Given the description of an element on the screen output the (x, y) to click on. 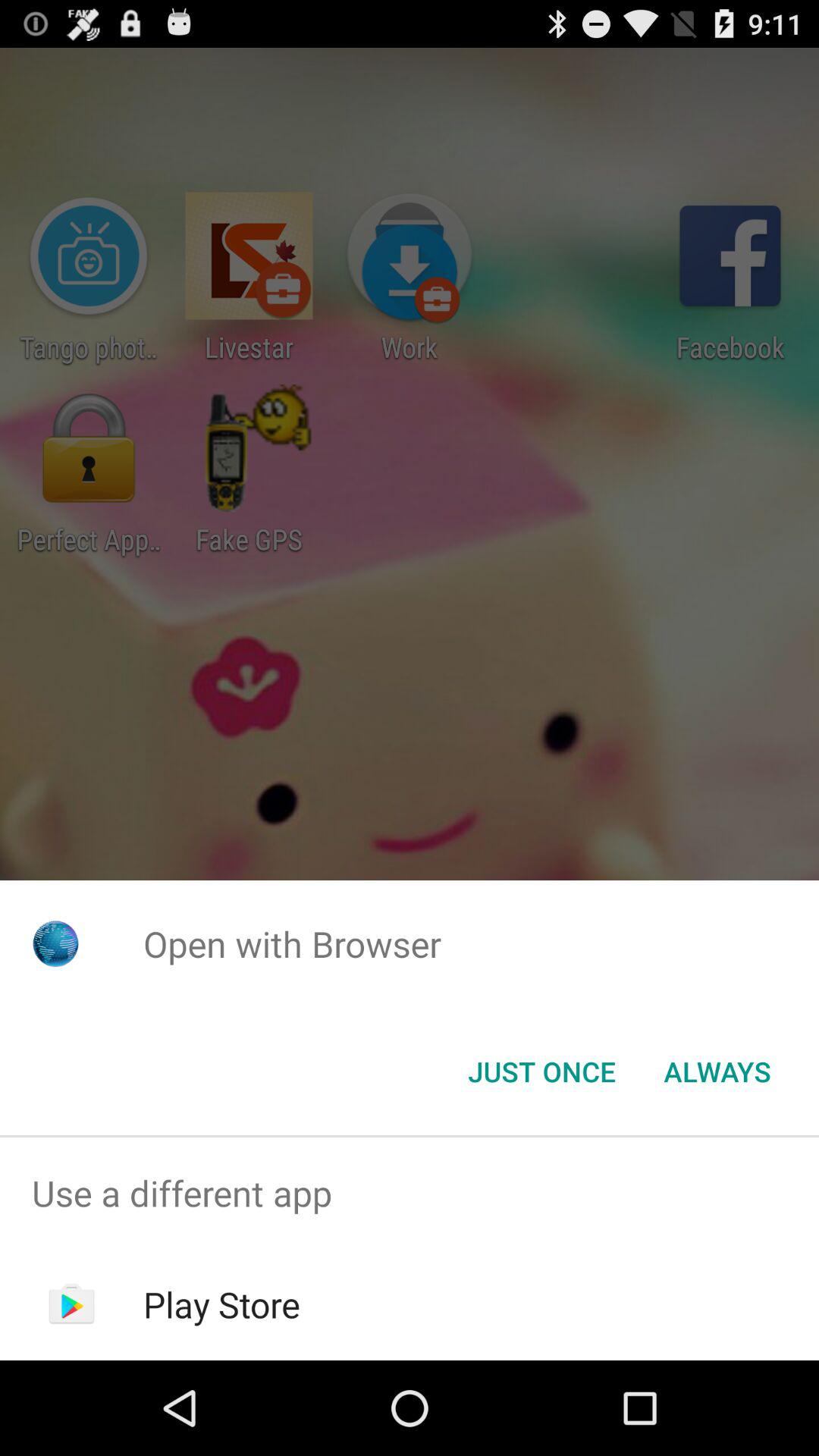
launch the just once icon (541, 1071)
